Given the description of an element on the screen output the (x, y) to click on. 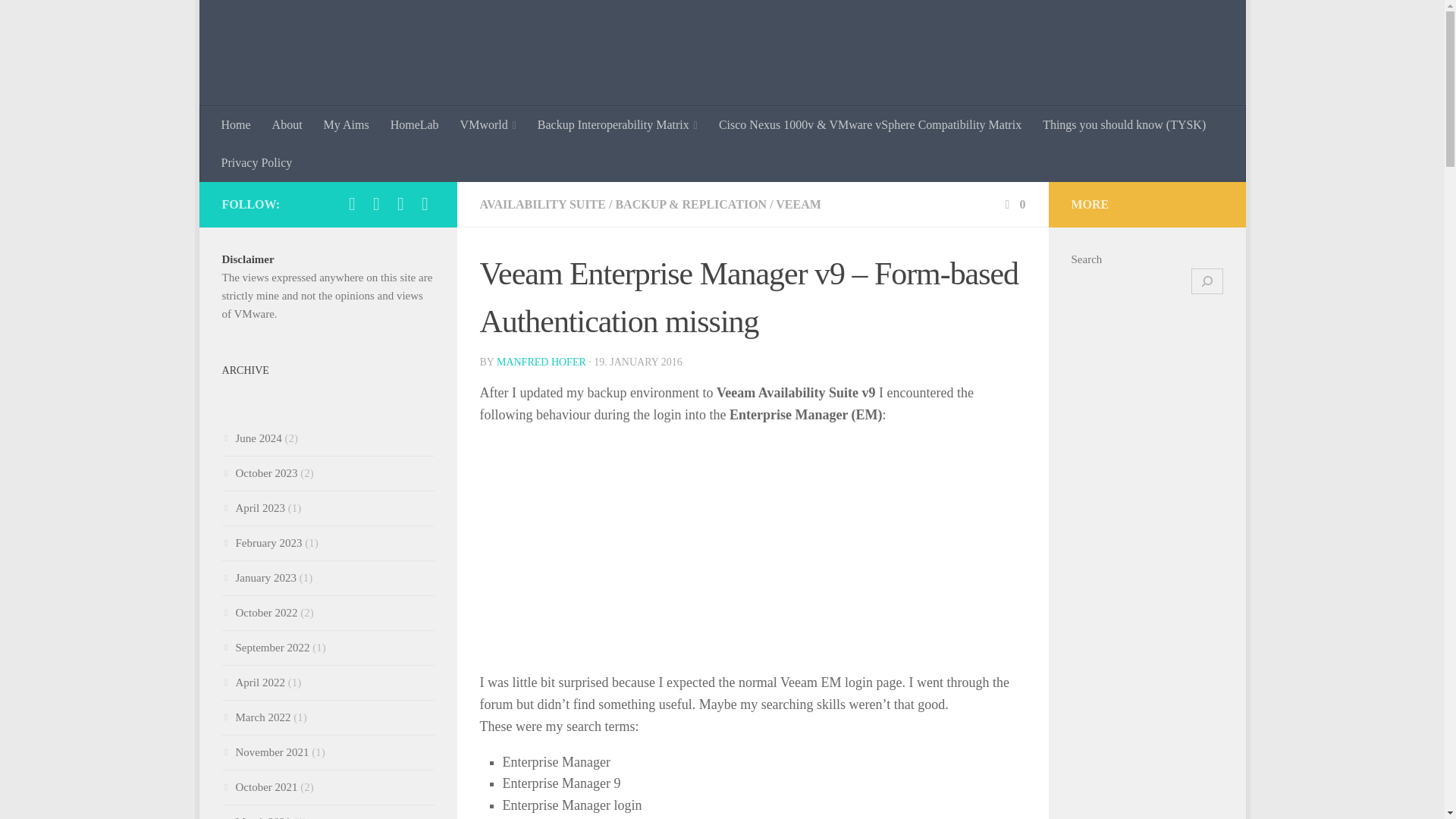
LinkedIn (375, 189)
Privacy Policy (256, 149)
My Aims (346, 111)
AVAILABILITY SUITE (542, 190)
HomeLab (414, 111)
Home (236, 111)
Backup Interoperability Matrix (617, 111)
Skip to content (258, 20)
VMworld (488, 111)
Follow us on Twitter (351, 189)
